Given the description of an element on the screen output the (x, y) to click on. 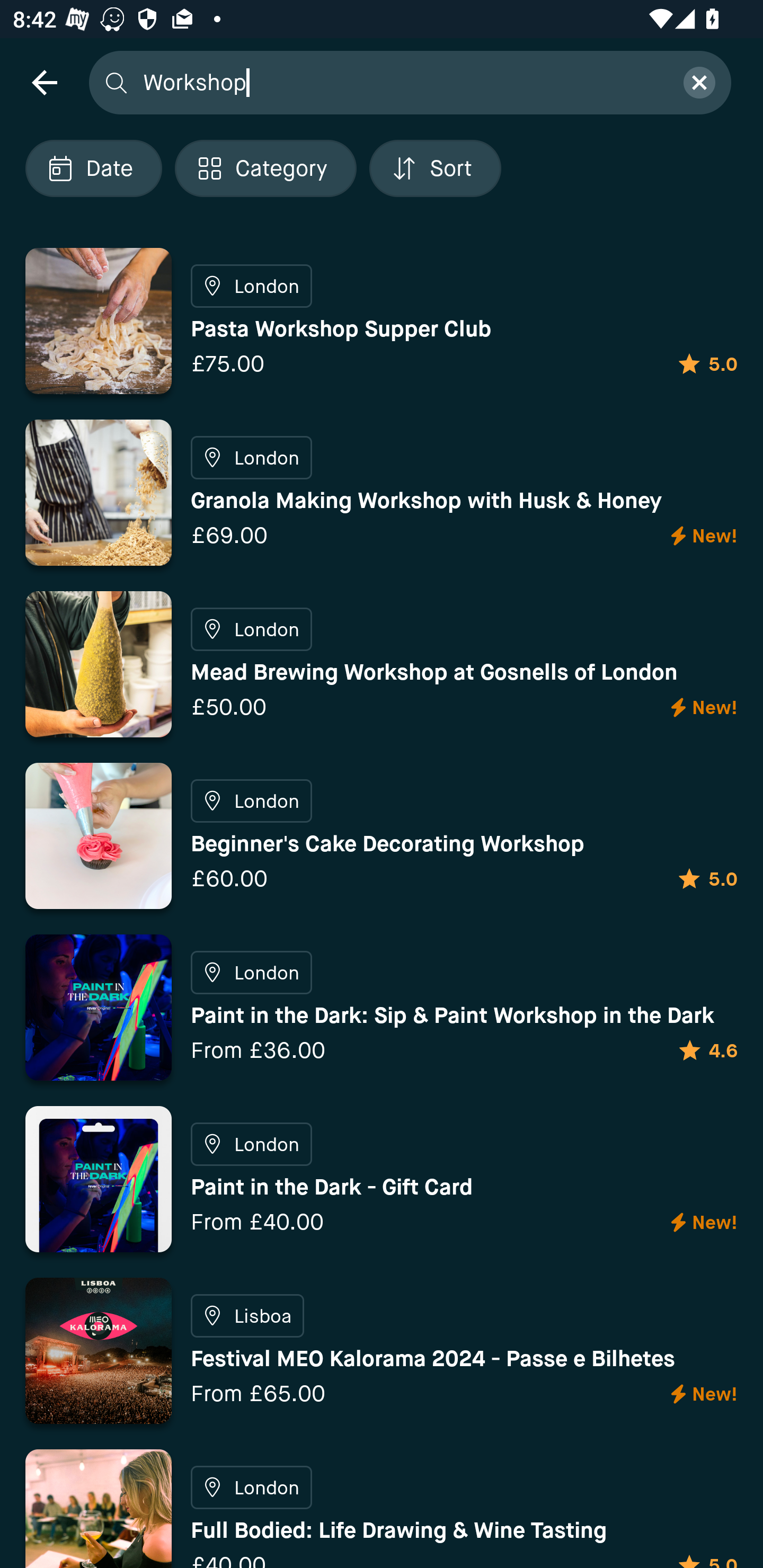
navigation icon (44, 81)
Workshop (402, 81)
Localized description Date (93, 168)
Localized description Category (265, 168)
Localized description Sort (435, 168)
